Given the description of an element on the screen output the (x, y) to click on. 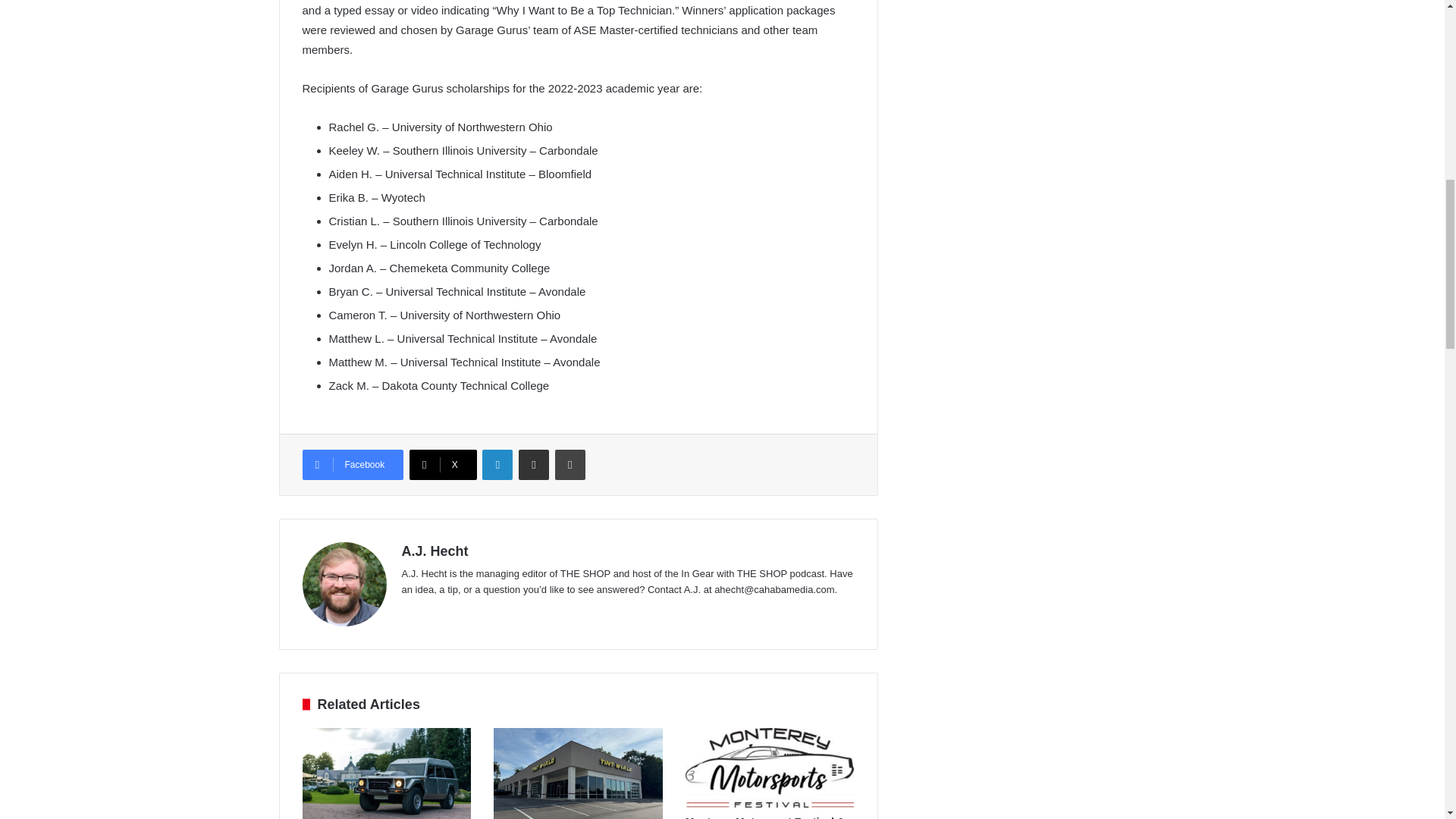
LinkedIn (496, 464)
X (443, 464)
Share via Email (533, 464)
Facebook (352, 464)
X (443, 464)
LinkedIn (496, 464)
Print (569, 464)
Facebook (352, 464)
Share via Email (533, 464)
